Given the description of an element on the screen output the (x, y) to click on. 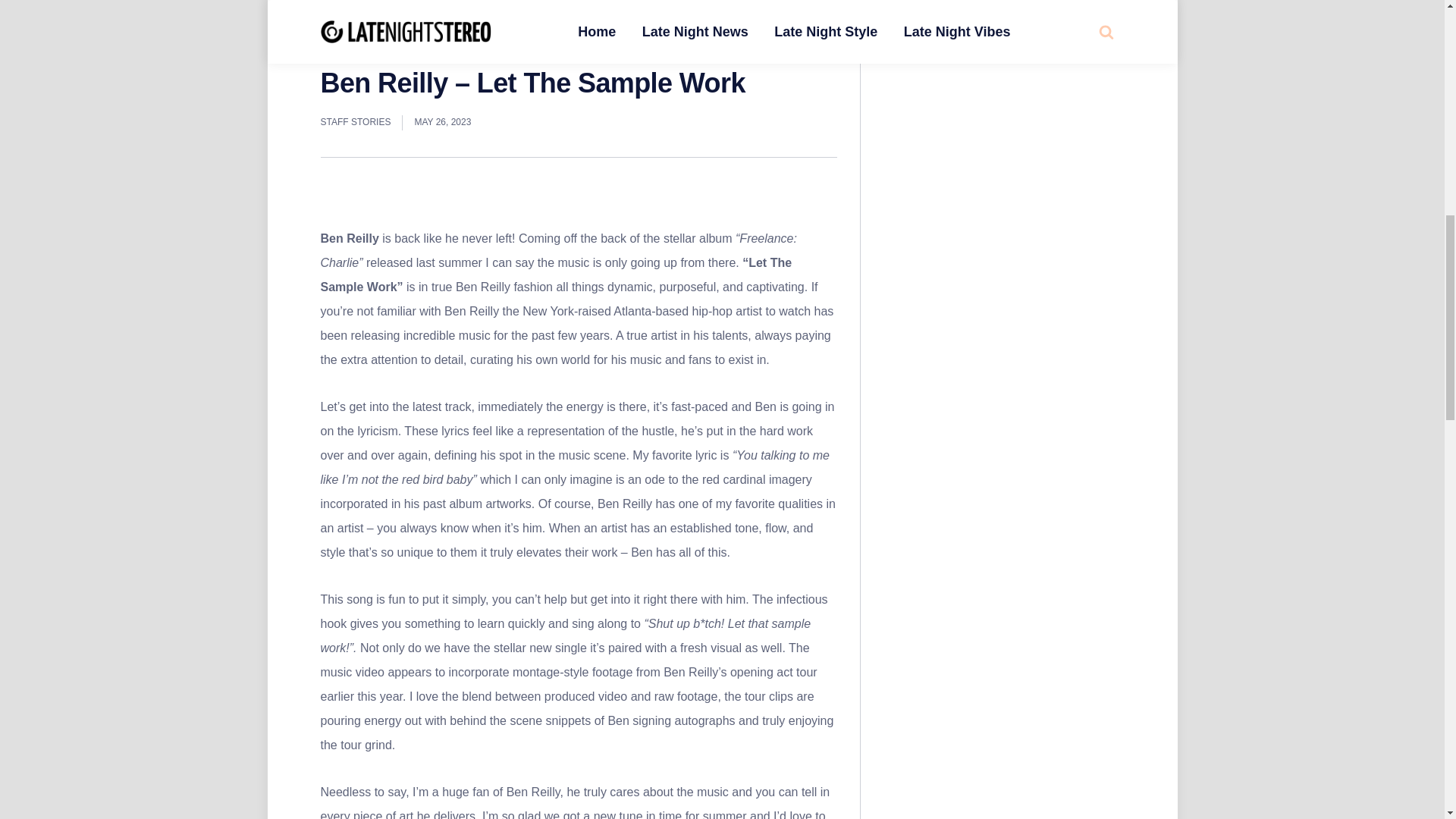
Late Night Vibes (371, 12)
Late Night Vibes (397, 46)
Home (331, 46)
STAFF STORIES (355, 122)
